Given the description of an element on the screen output the (x, y) to click on. 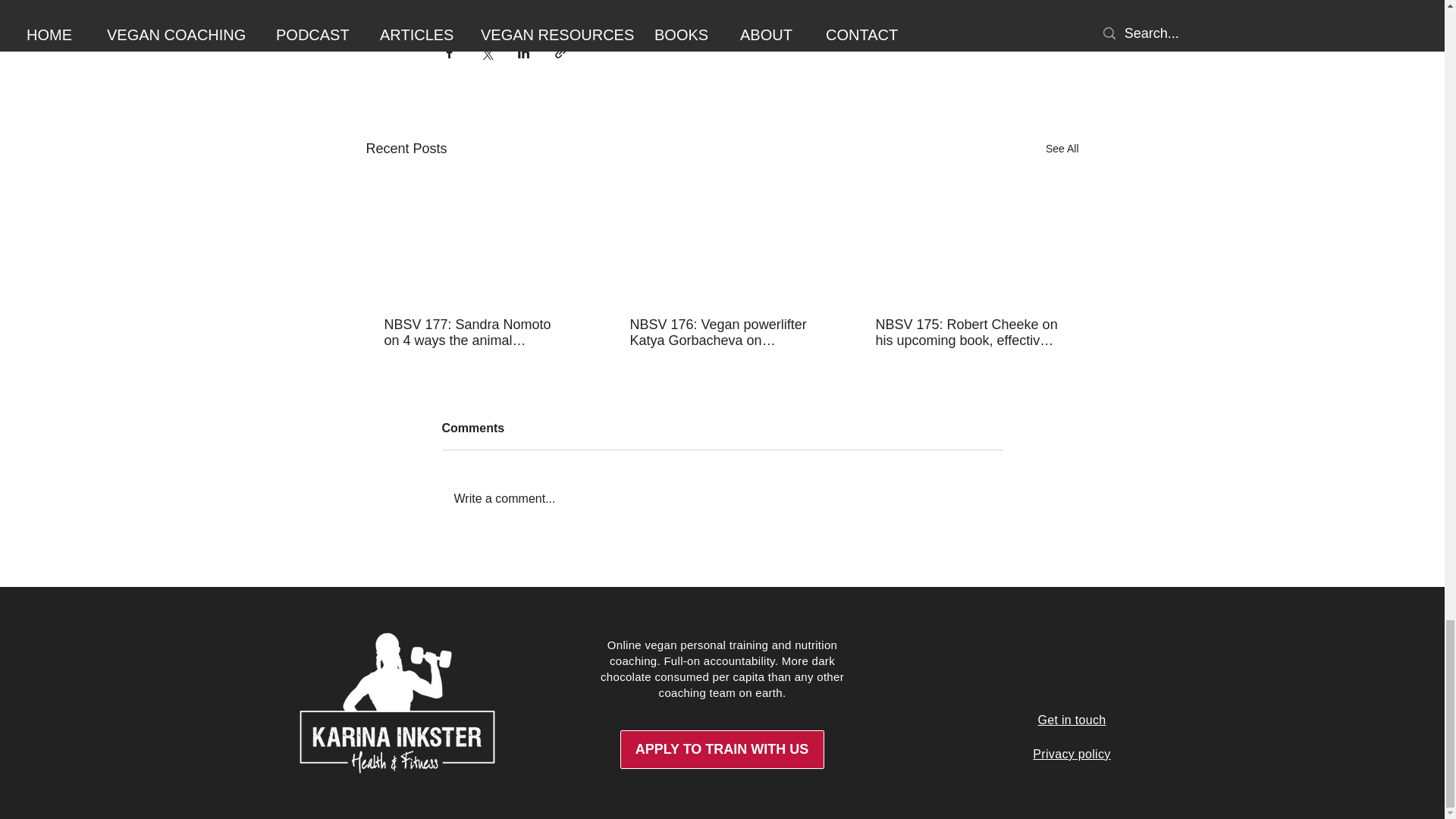
See All (1061, 148)
